Given the description of an element on the screen output the (x, y) to click on. 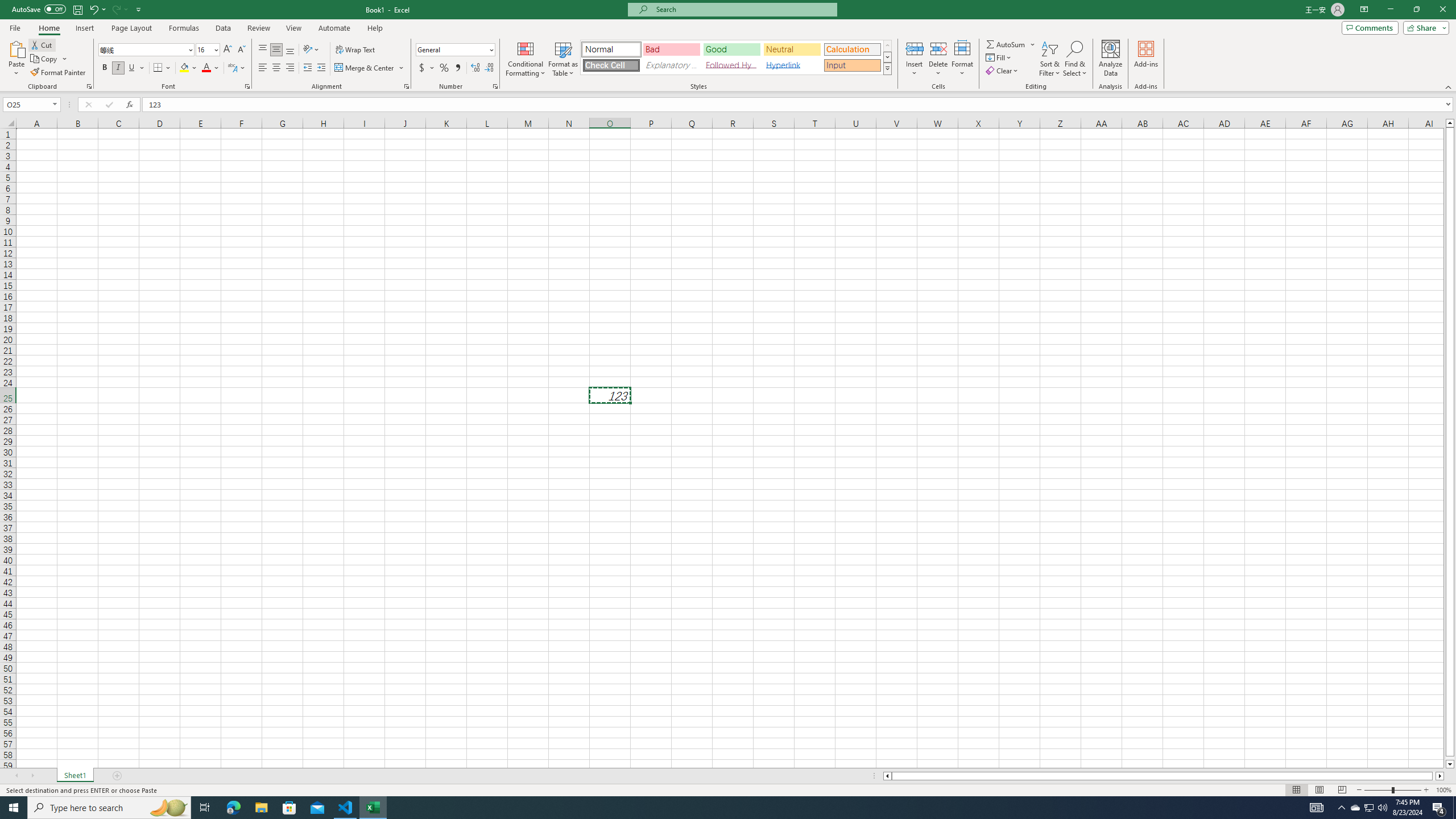
Underline (131, 67)
Font Color (210, 67)
Font Color RGB(255, 0, 0) (206, 67)
Insert Cells (914, 48)
Decrease Indent (307, 67)
Format Painter (58, 72)
Comma Style (457, 67)
Borders (162, 67)
Align Right (290, 67)
Increase Decimal (474, 67)
Bad (671, 49)
Sort & Filter (1049, 58)
Font (142, 49)
